Given the description of an element on the screen output the (x, y) to click on. 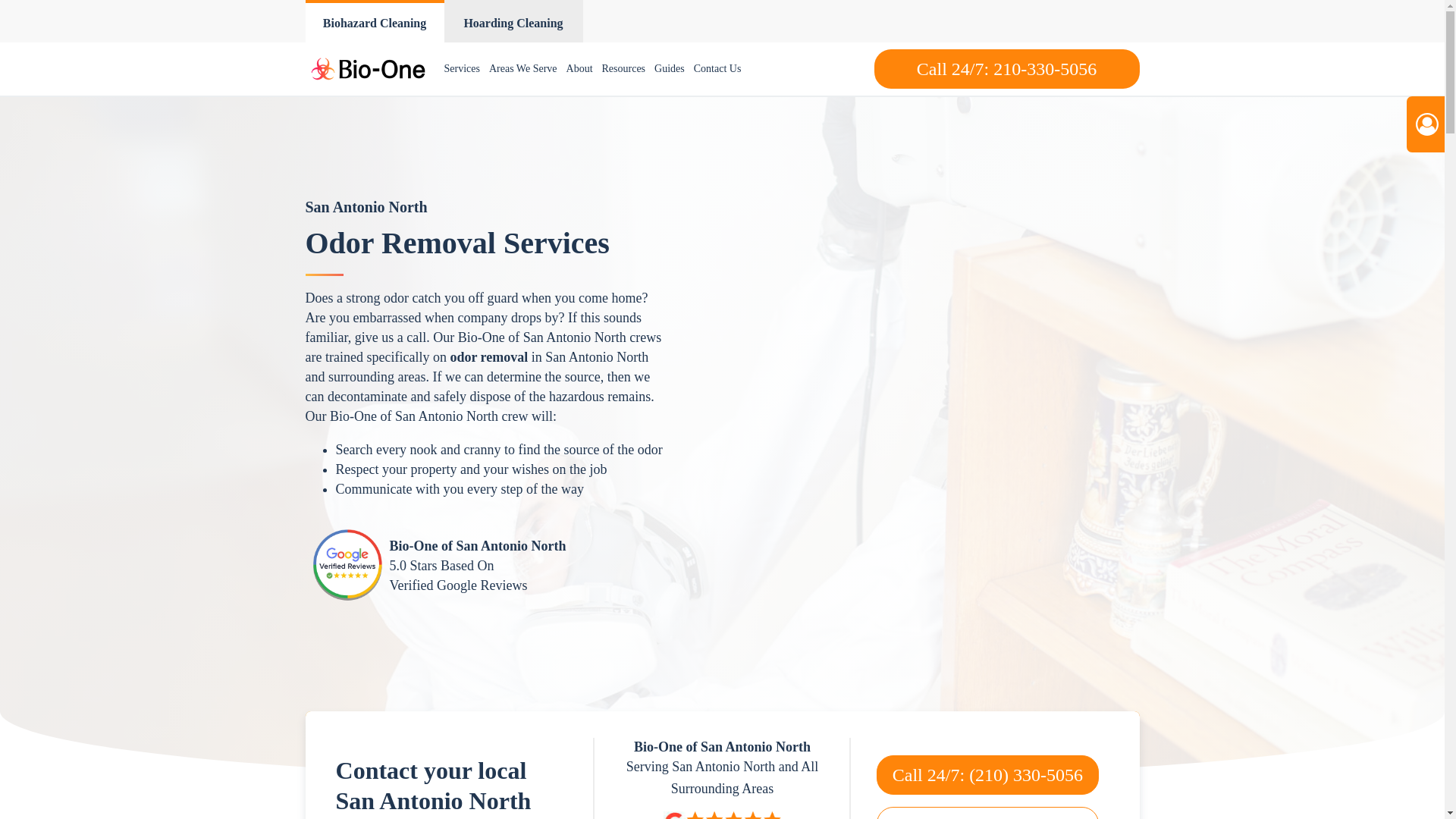
Hoarding Cleaning (513, 21)
Services (461, 68)
Resources (623, 68)
Biohazard Cleaning (374, 21)
Areas We Serve (523, 68)
